Given the description of an element on the screen output the (x, y) to click on. 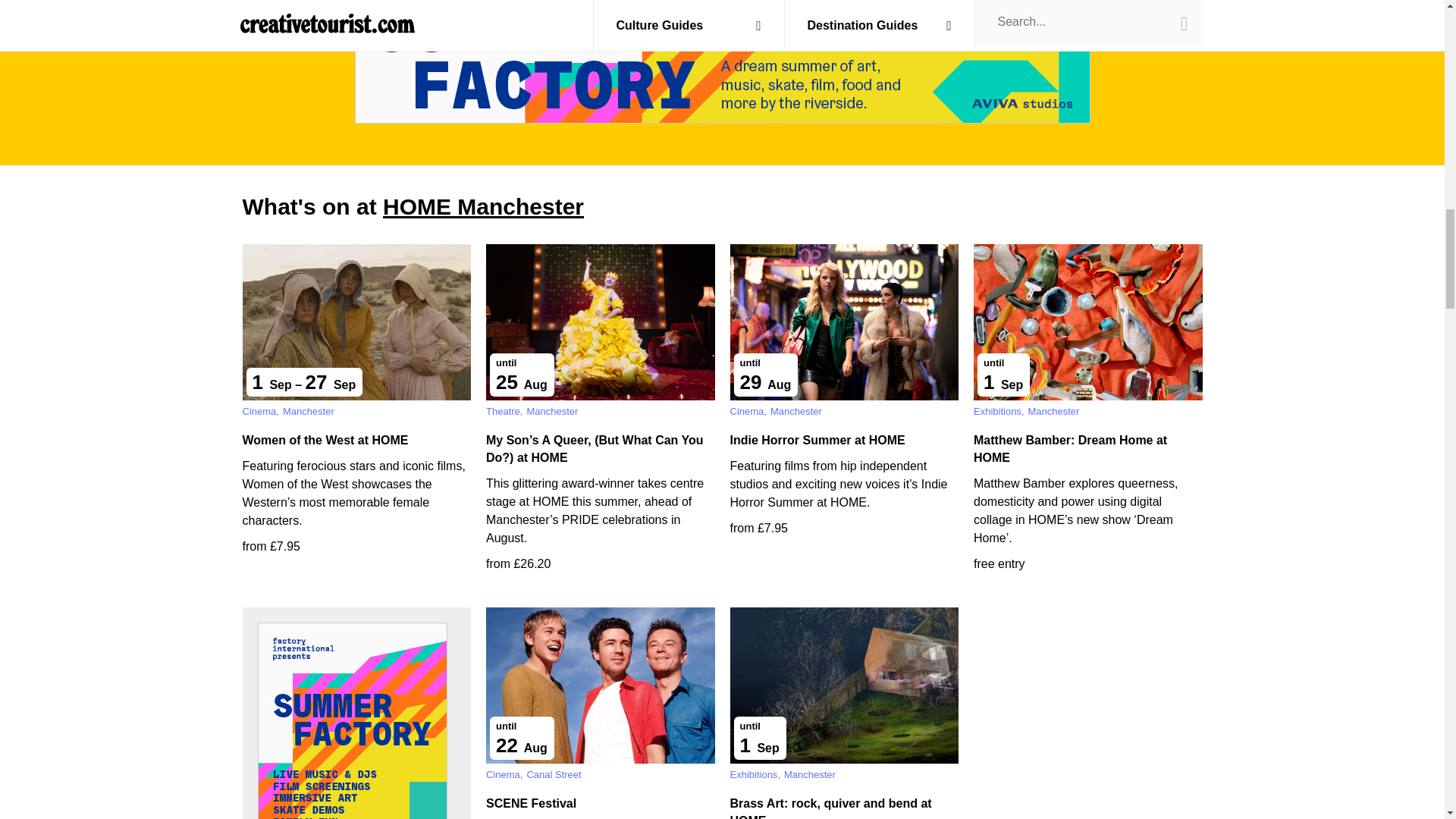
HOME Manchester (482, 206)
Women of the West at HOME (326, 439)
